Given the description of an element on the screen output the (x, y) to click on. 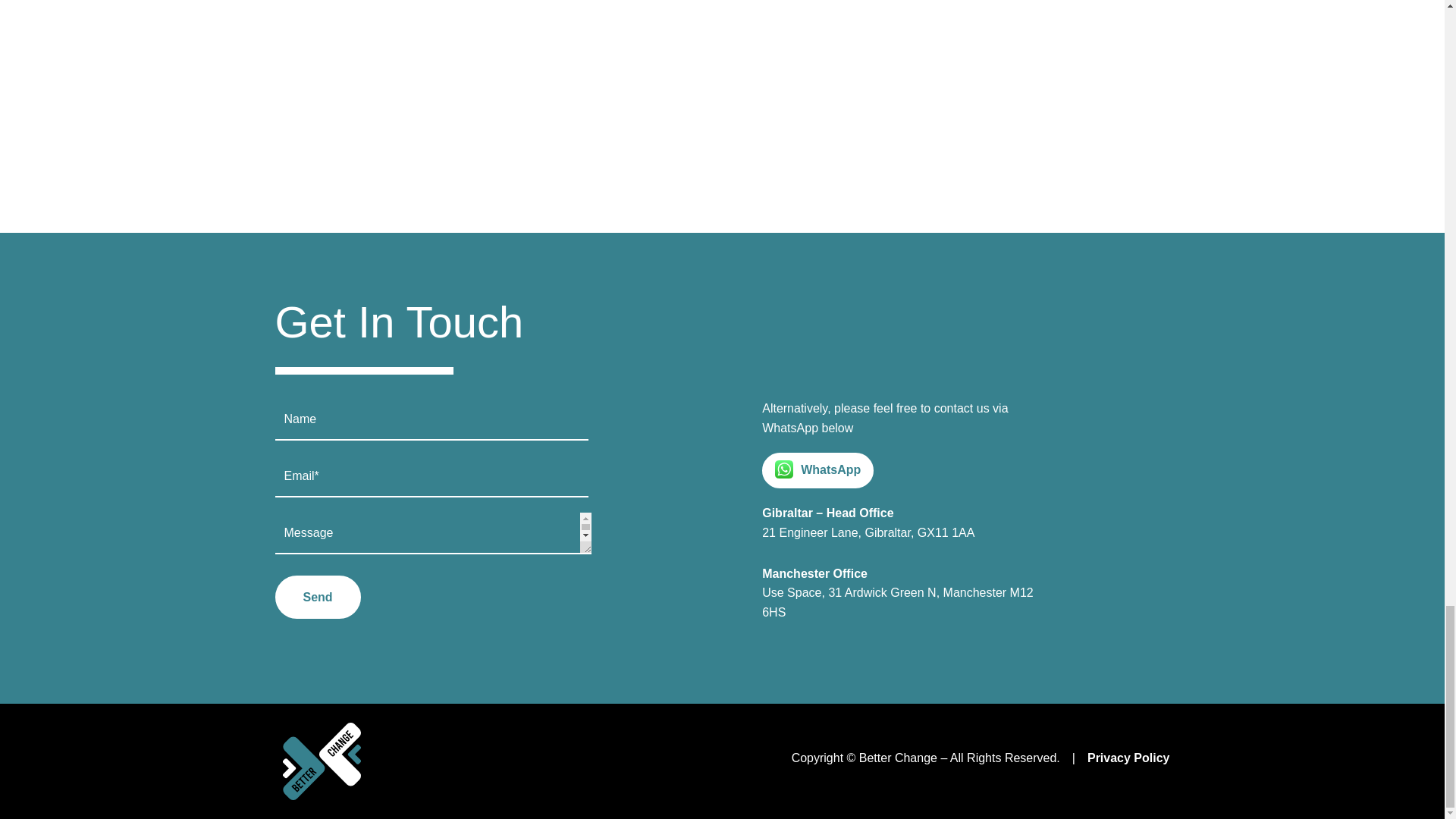
Send (317, 597)
Send (317, 597)
Privacy Policy (1128, 757)
